Given the description of an element on the screen output the (x, y) to click on. 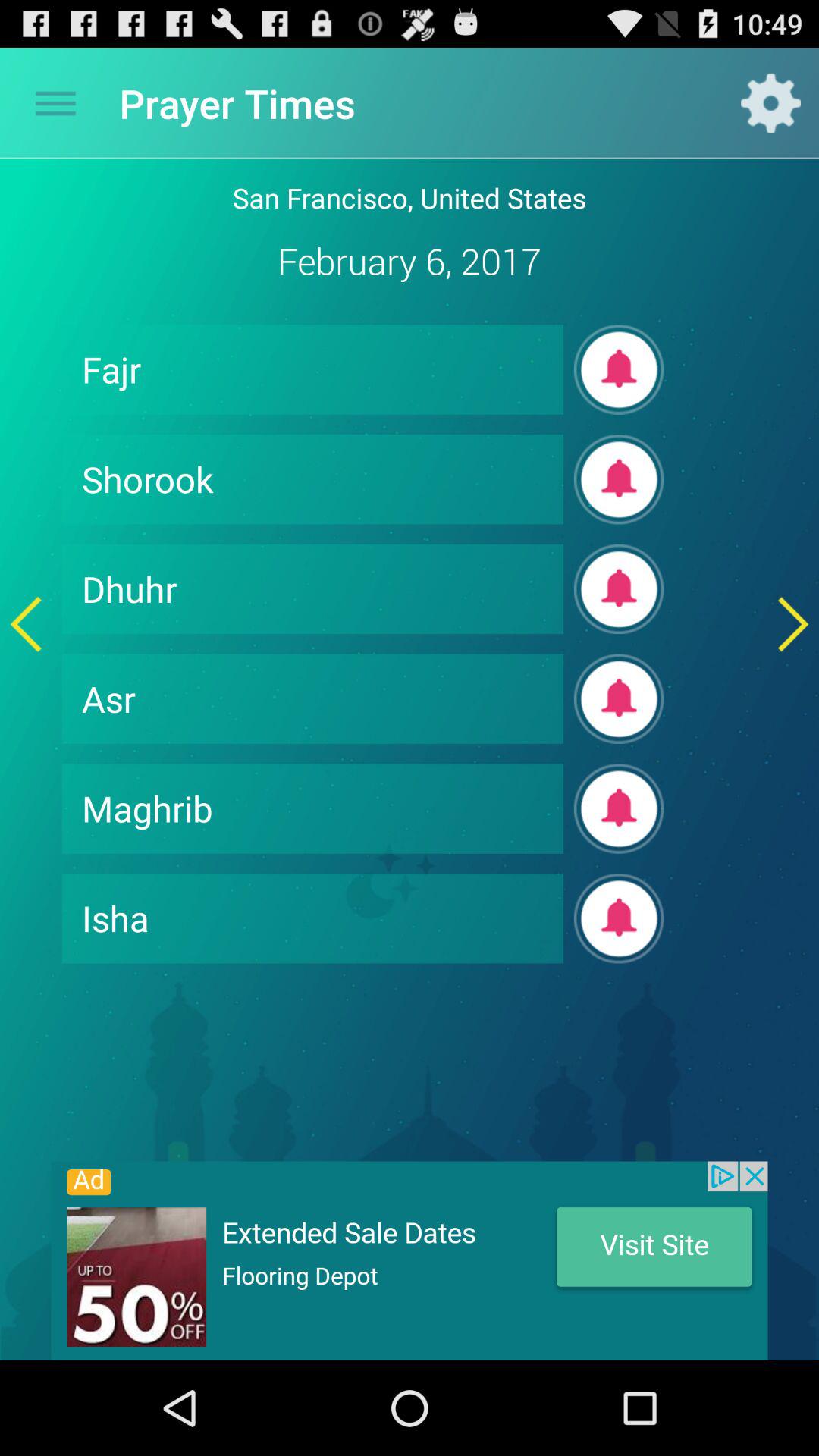
next (793, 624)
